Given the description of an element on the screen output the (x, y) to click on. 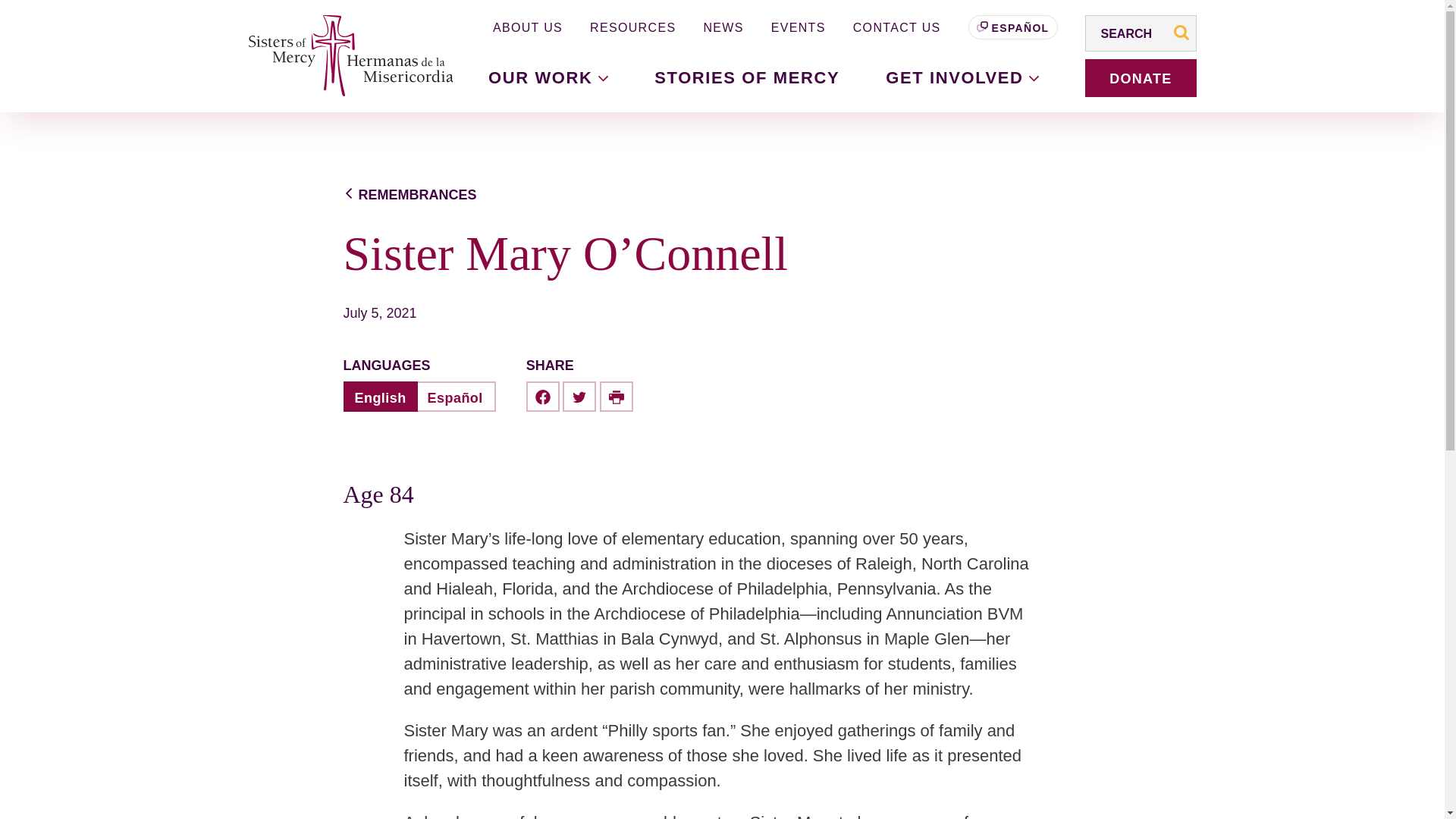
OUR WORK (547, 76)
GET INVOLVED (962, 76)
STORIES OF MERCY (746, 76)
Sisters of Mercy, Hermanas de la Misercordia (343, 56)
